Given the description of an element on the screen output the (x, y) to click on. 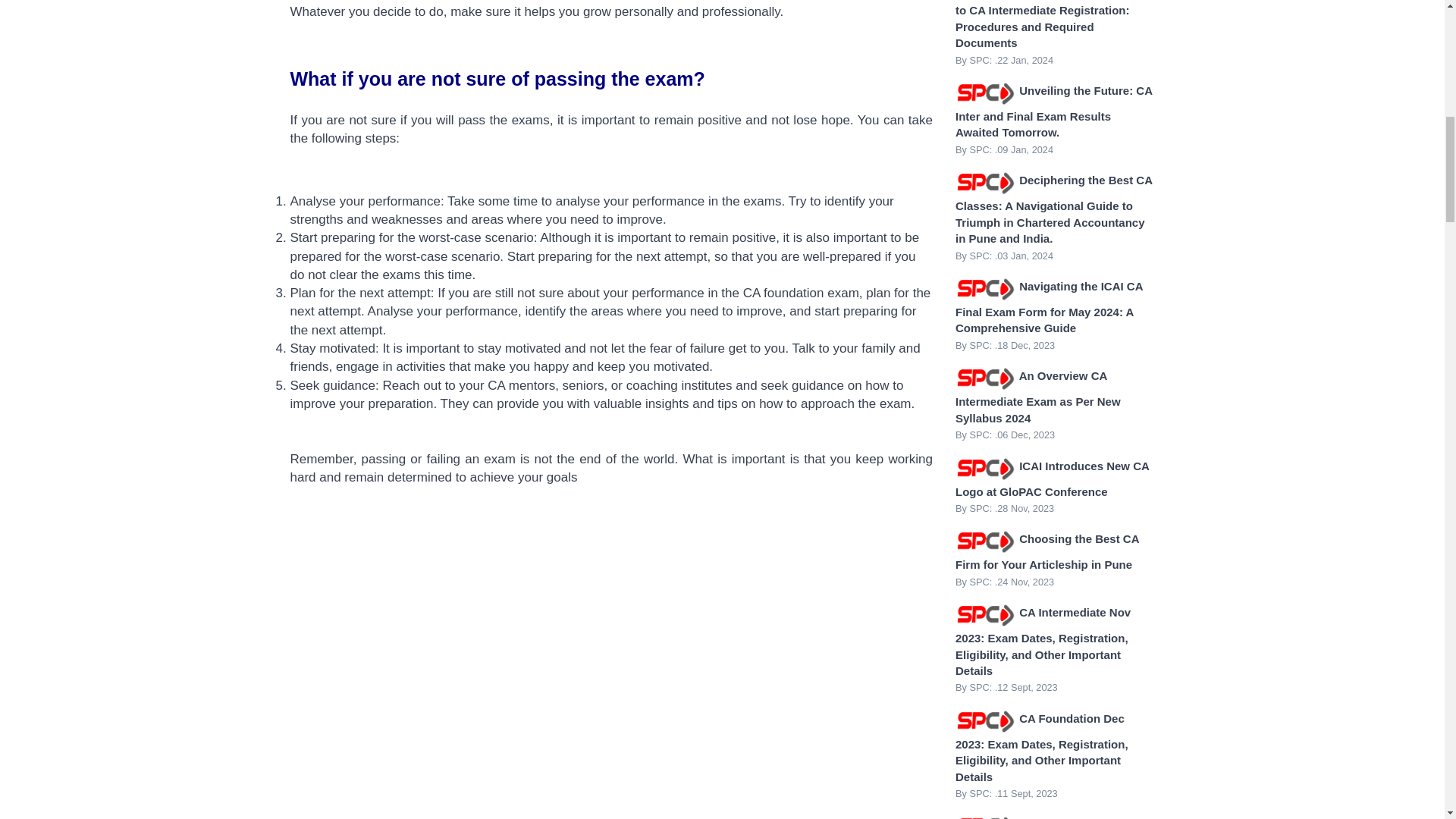
An Overview CA Intermediate Exam as Per New Syllabus 2024 (1038, 396)
ICAI Introduces New CA Logo at GloPAC Conference (1051, 478)
Choosing the Best CA Firm for Your Articleship in Pune (1046, 551)
